Given the description of an element on the screen output the (x, y) to click on. 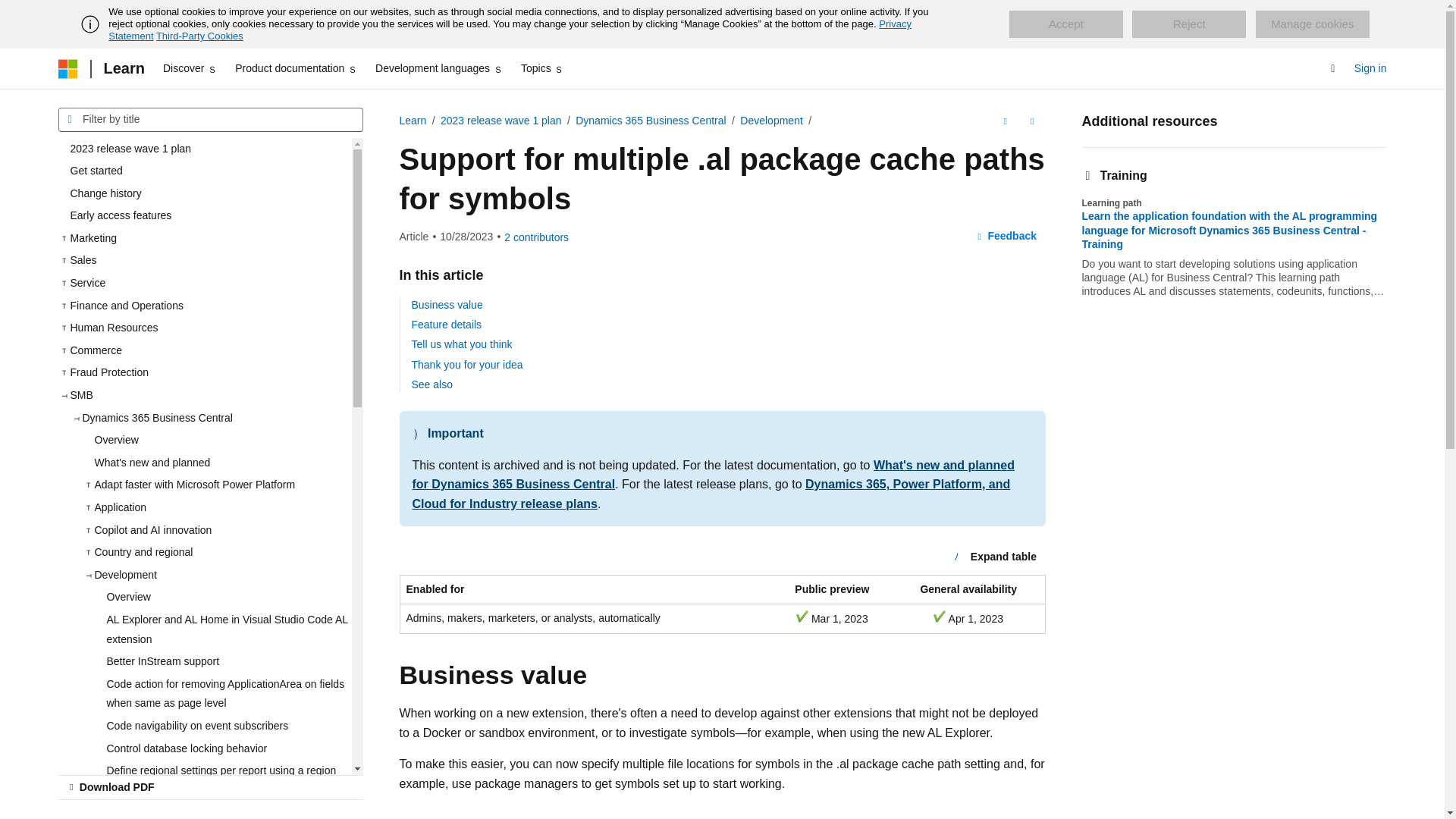
Manage cookies (1312, 23)
Define regional settings per report using a region property (222, 780)
View all contributors (536, 236)
AL Explorer and AL Home in Visual Studio Code AL extension (222, 629)
Get started (204, 170)
Accept (1065, 23)
2023 release wave 1 plan (204, 149)
Early access features (204, 215)
Sign in (1370, 68)
Learn (123, 68)
